Given the description of an element on the screen output the (x, y) to click on. 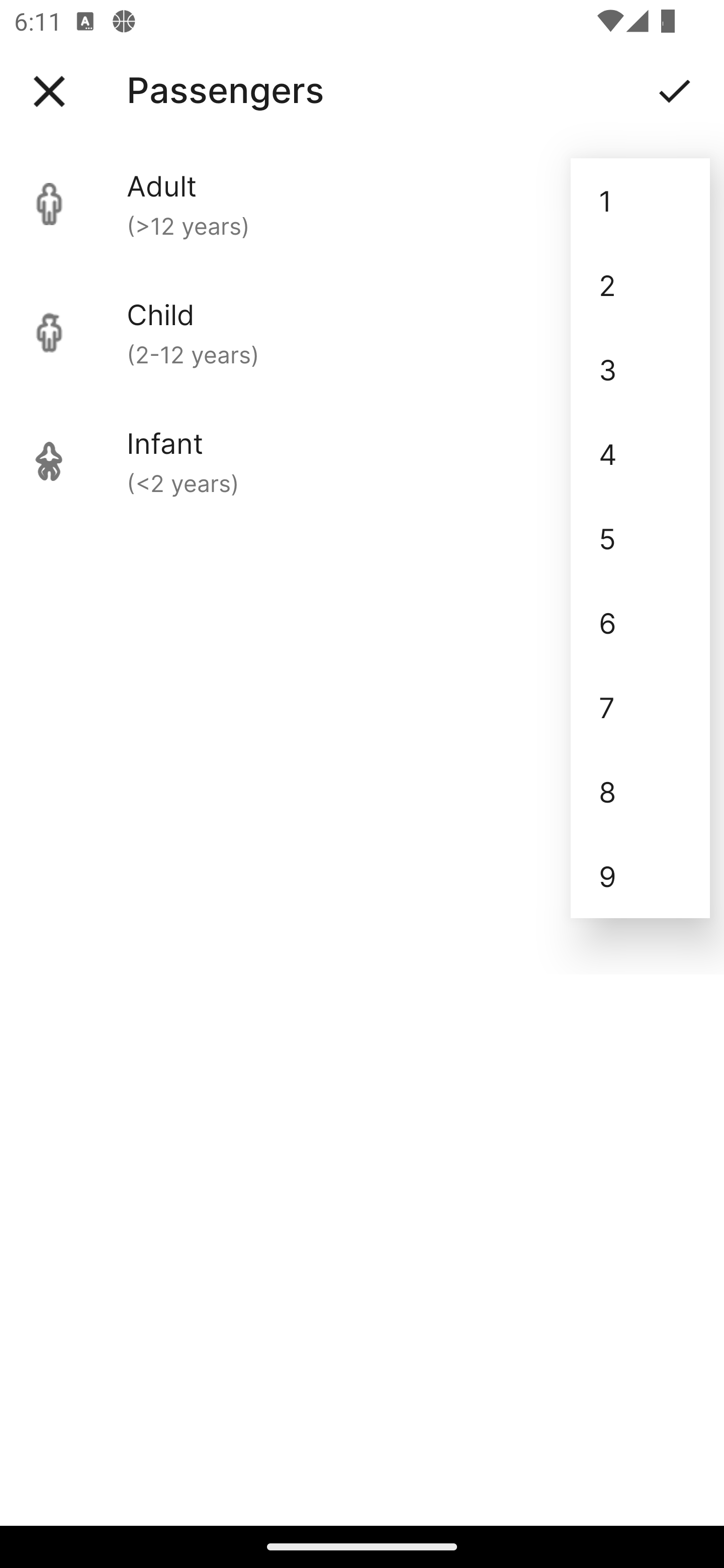
1 (640, 200)
2 (640, 285)
3 (640, 368)
4 (640, 452)
5 (640, 537)
6 (640, 622)
7 (640, 706)
8 (640, 791)
9 (640, 876)
